Given the description of an element on the screen output the (x, y) to click on. 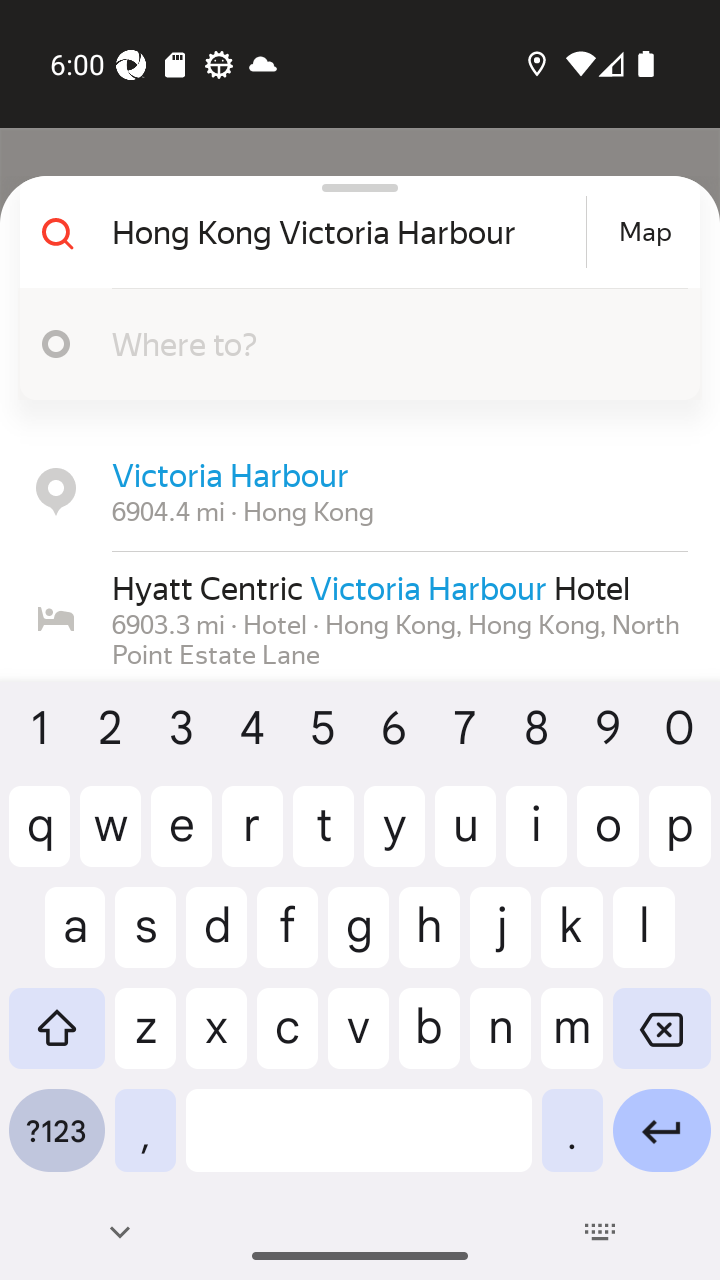
Hong Kong Victoria Harbour Map Map (352, 232)
Map (645, 232)
Hong Kong Victoria Harbour (346, 232)
Where to? (352, 343)
Where to? (390, 343)
